Given the description of an element on the screen output the (x, y) to click on. 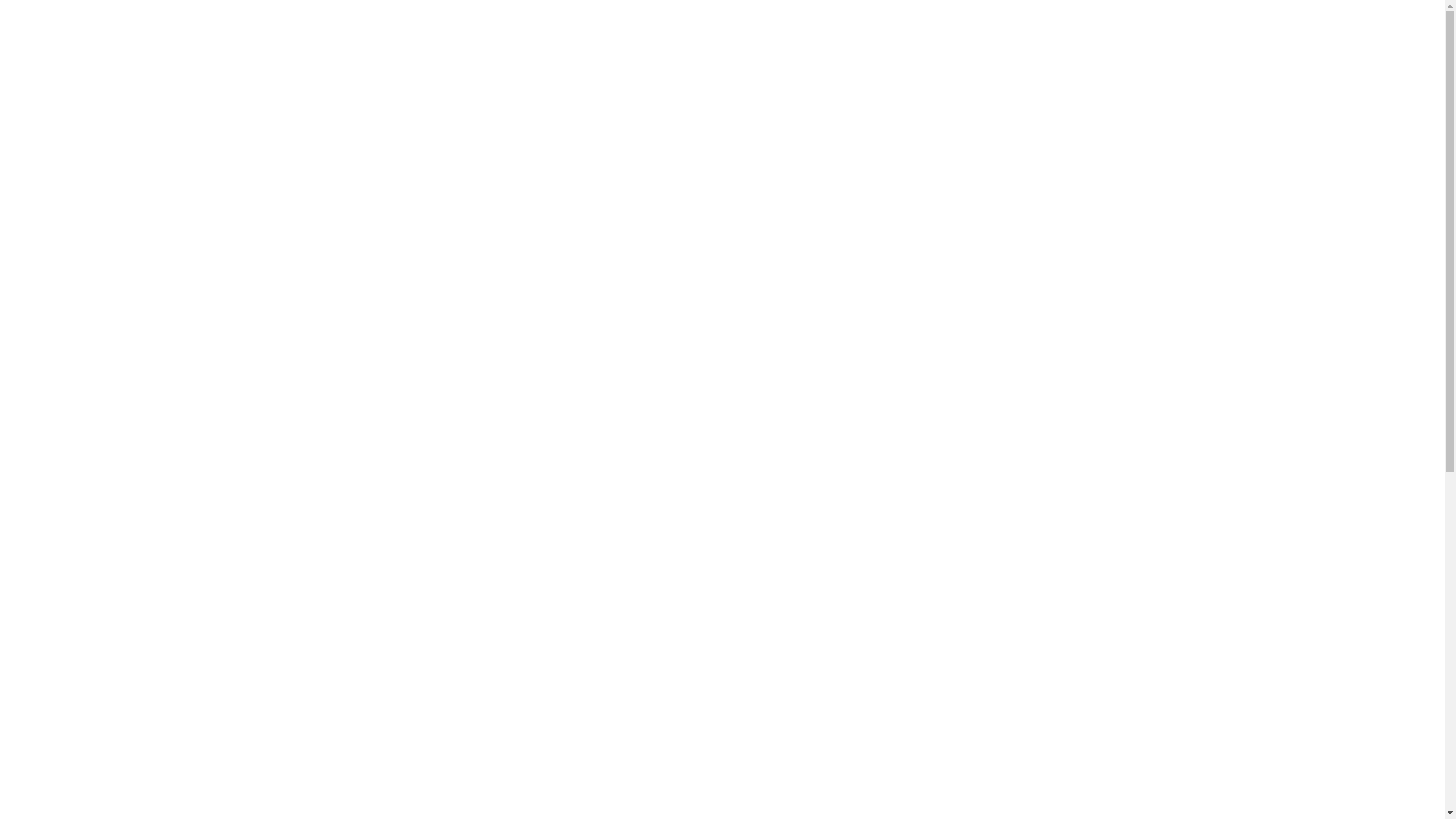
Search Element type: text (904, 487)
Search Element type: text (20, 20)
